Given the description of an element on the screen output the (x, y) to click on. 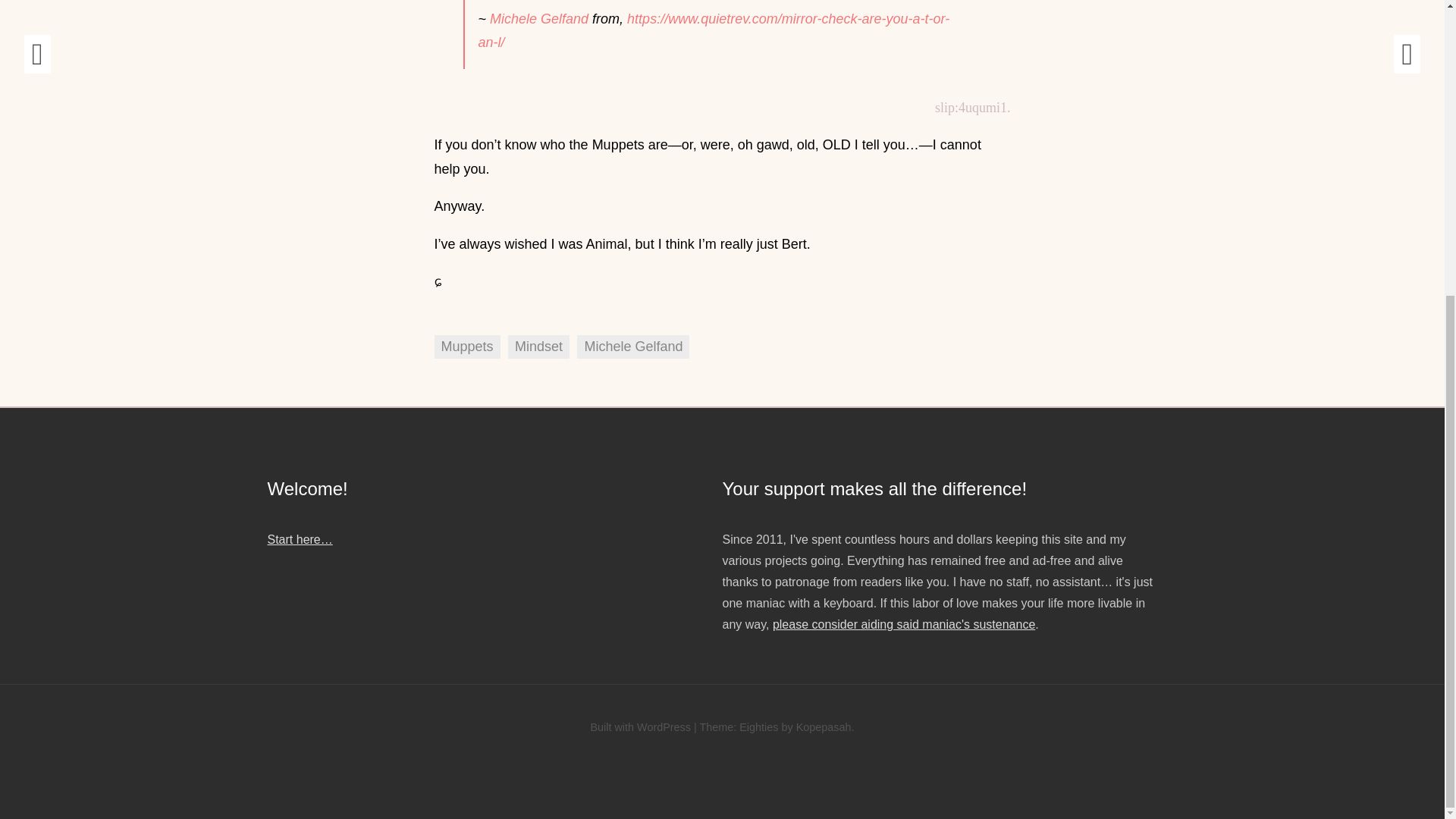
Built with WordPress (639, 727)
Muppets (466, 346)
Michele Gelfand (632, 346)
Michele Gelfand (538, 18)
Kopepasah (823, 727)
Eighties (758, 727)
please consider aiding said maniac's sustenance (904, 624)
Mindset (538, 346)
